Given the description of an element on the screen output the (x, y) to click on. 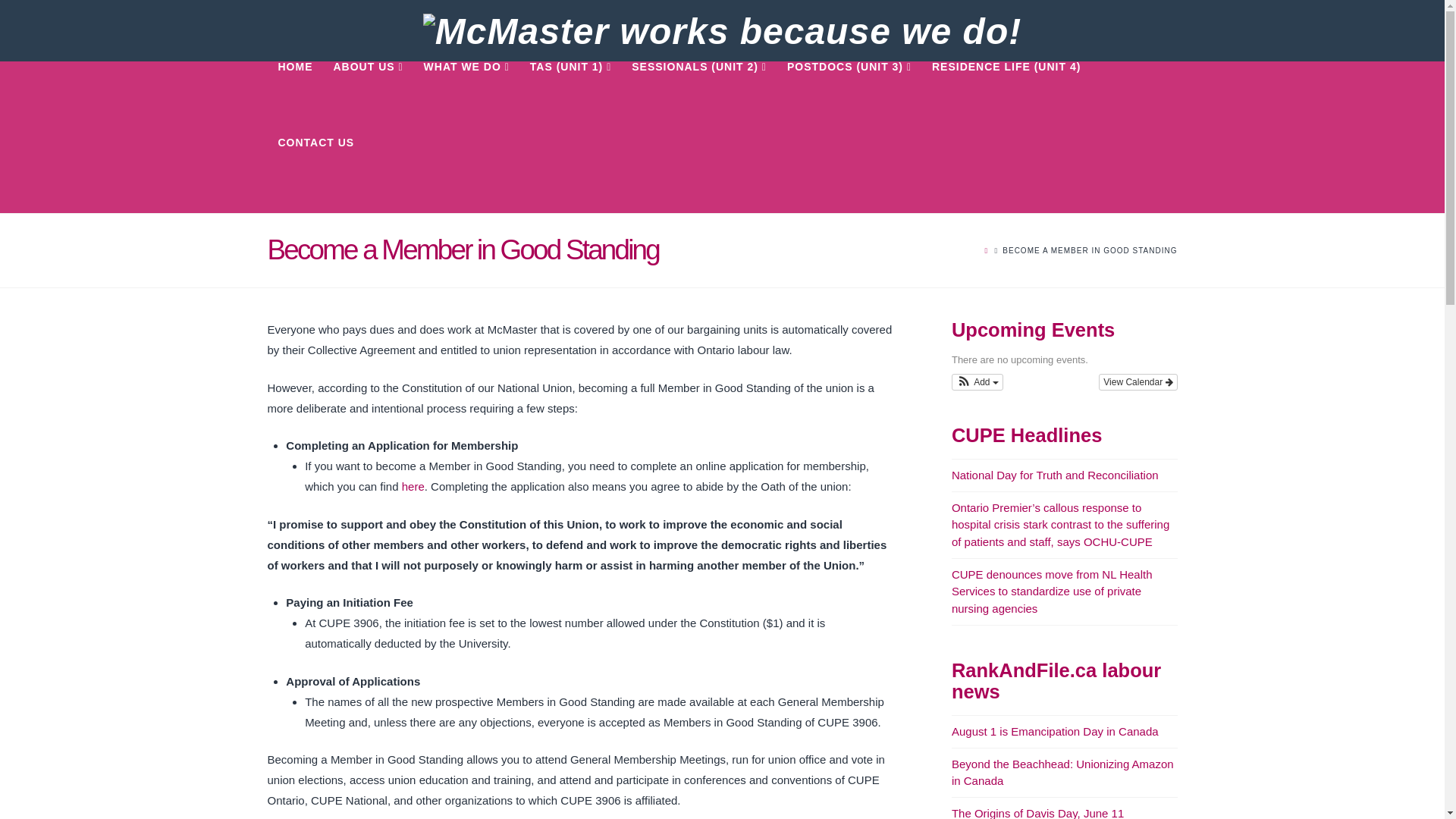
WHAT WE DO (466, 99)
ABOUT US (368, 99)
McMaster works because we do! (722, 30)
